Given the description of an element on the screen output the (x, y) to click on. 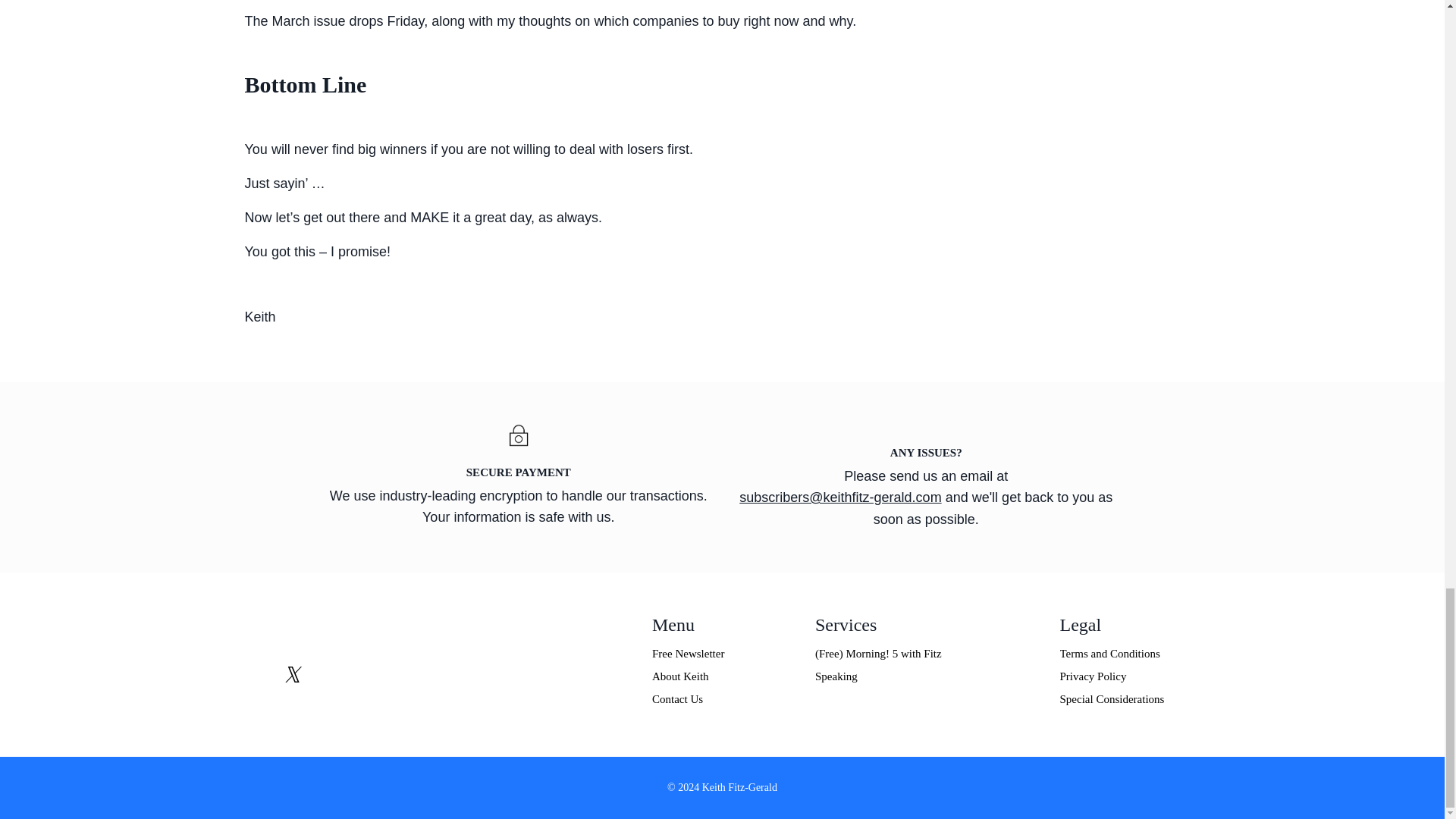
Contact Us (714, 698)
Special Considerations (1122, 698)
Terms and Conditions (1122, 653)
Speaking (918, 676)
Privacy Policy (1122, 676)
About Keith (714, 676)
Free Newsletter (714, 653)
